Given the description of an element on the screen output the (x, y) to click on. 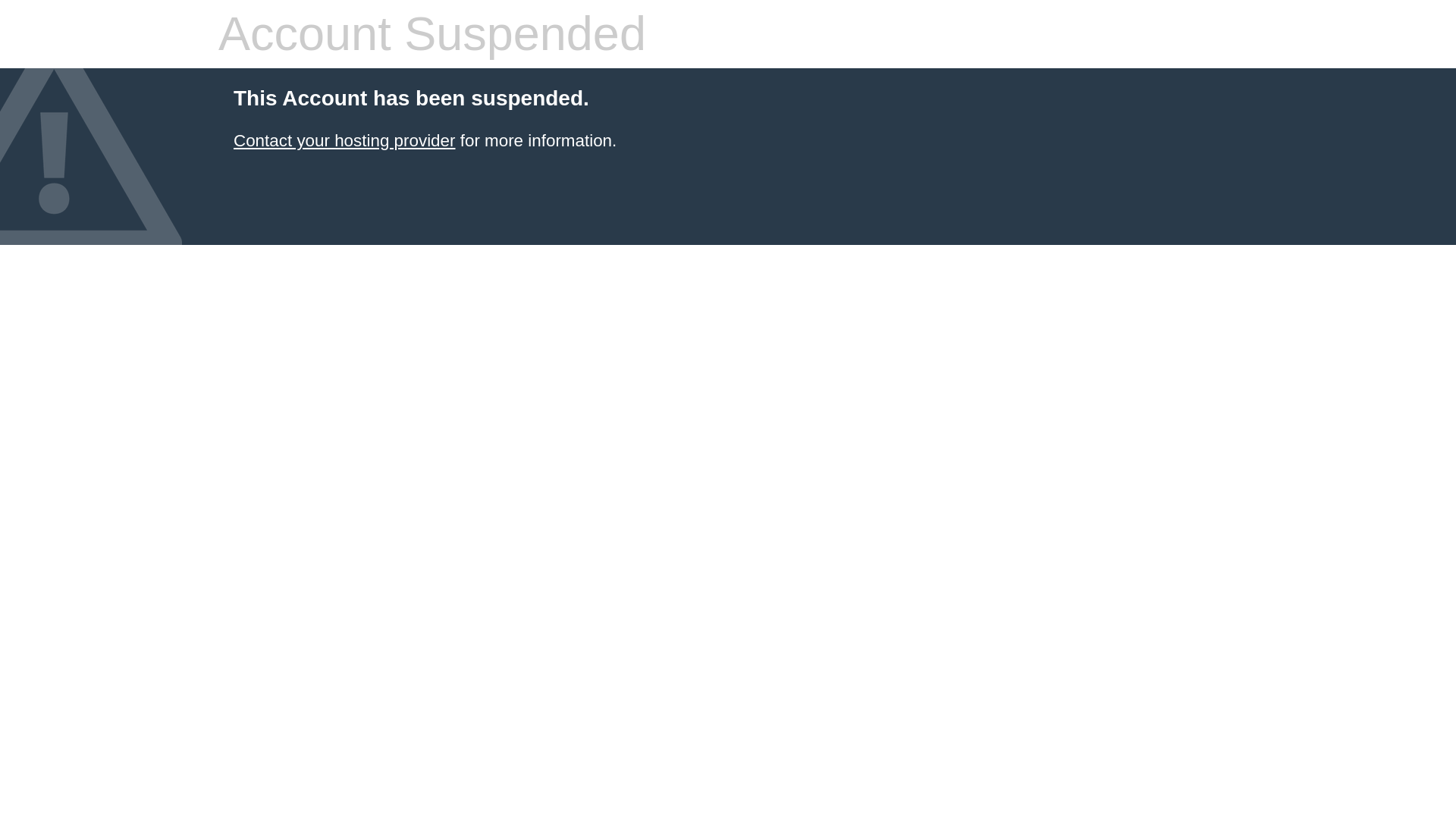
Contact your hosting provider (343, 140)
